Given the description of an element on the screen output the (x, y) to click on. 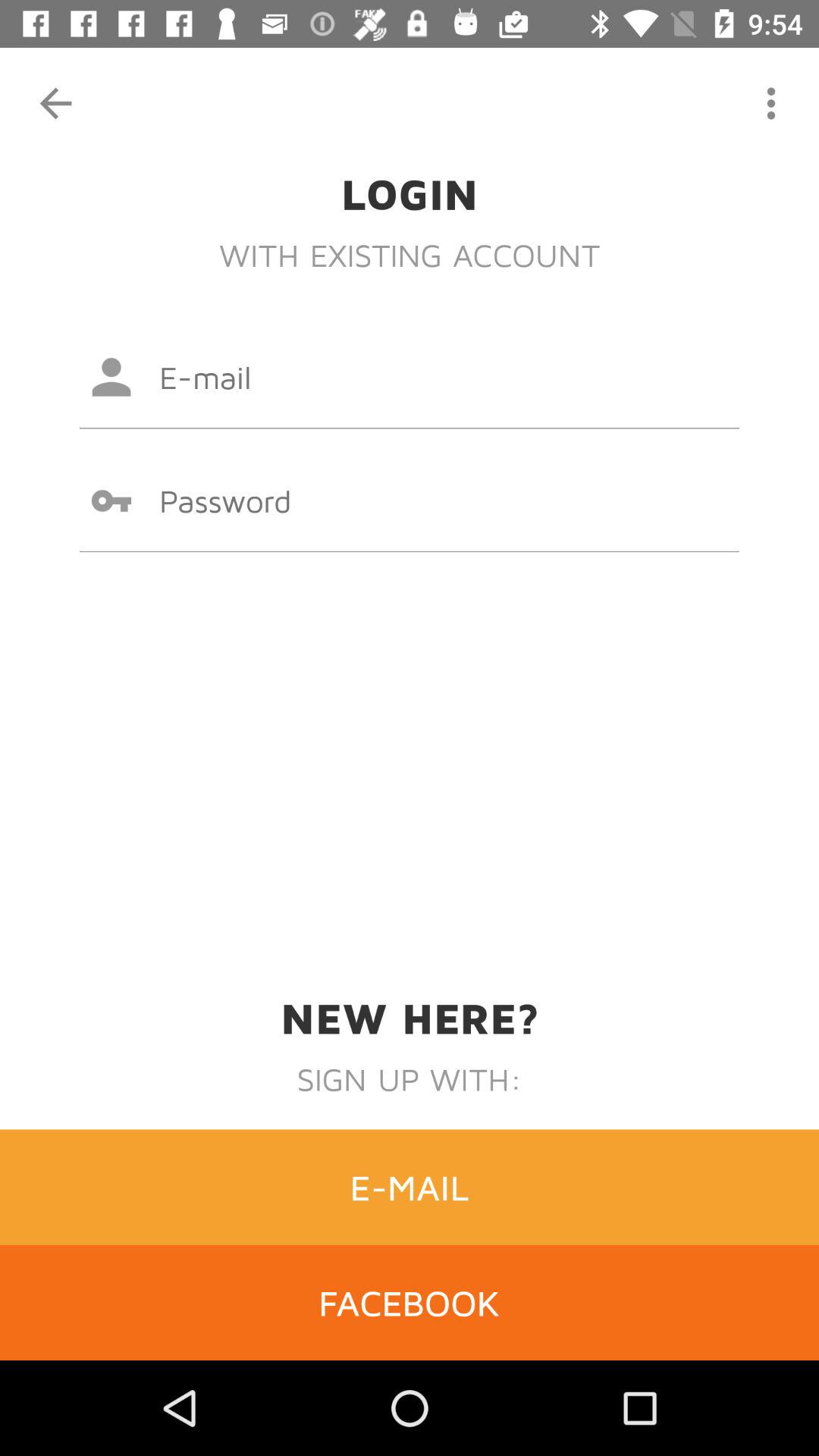
press icon below the with existing account icon (409, 376)
